Given the description of an element on the screen output the (x, y) to click on. 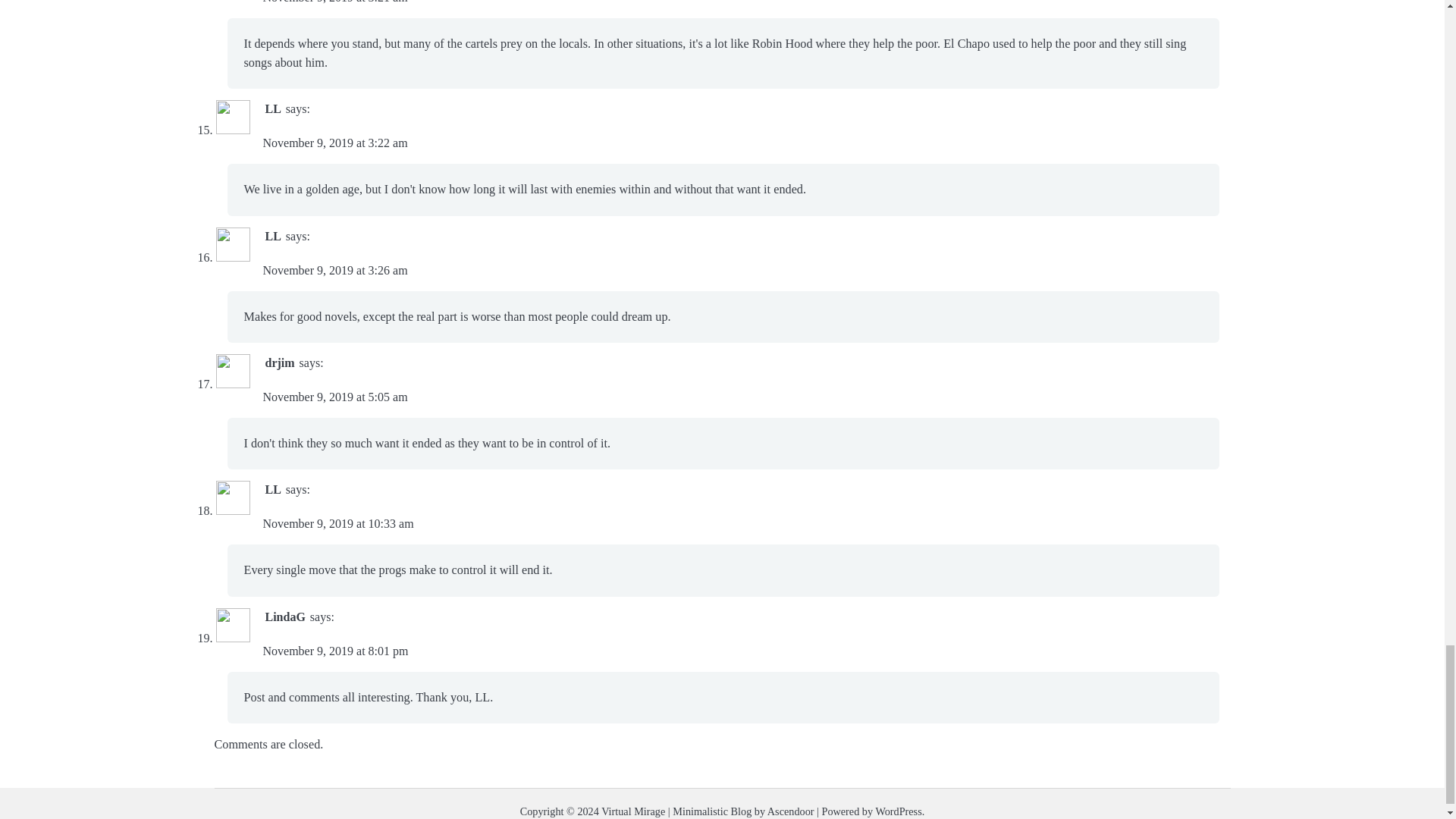
Virtual Mirage (633, 811)
November 9, 2019 at 3:22 am (334, 142)
November 9, 2019 at 10:33 am (337, 522)
November 9, 2019 at 5:05 am (334, 396)
November 9, 2019 at 3:26 am (334, 269)
November 9, 2019 at 8:01 pm (334, 650)
Ascendoor (790, 811)
November 9, 2019 at 3:21 am (334, 2)
